Given the description of an element on the screen output the (x, y) to click on. 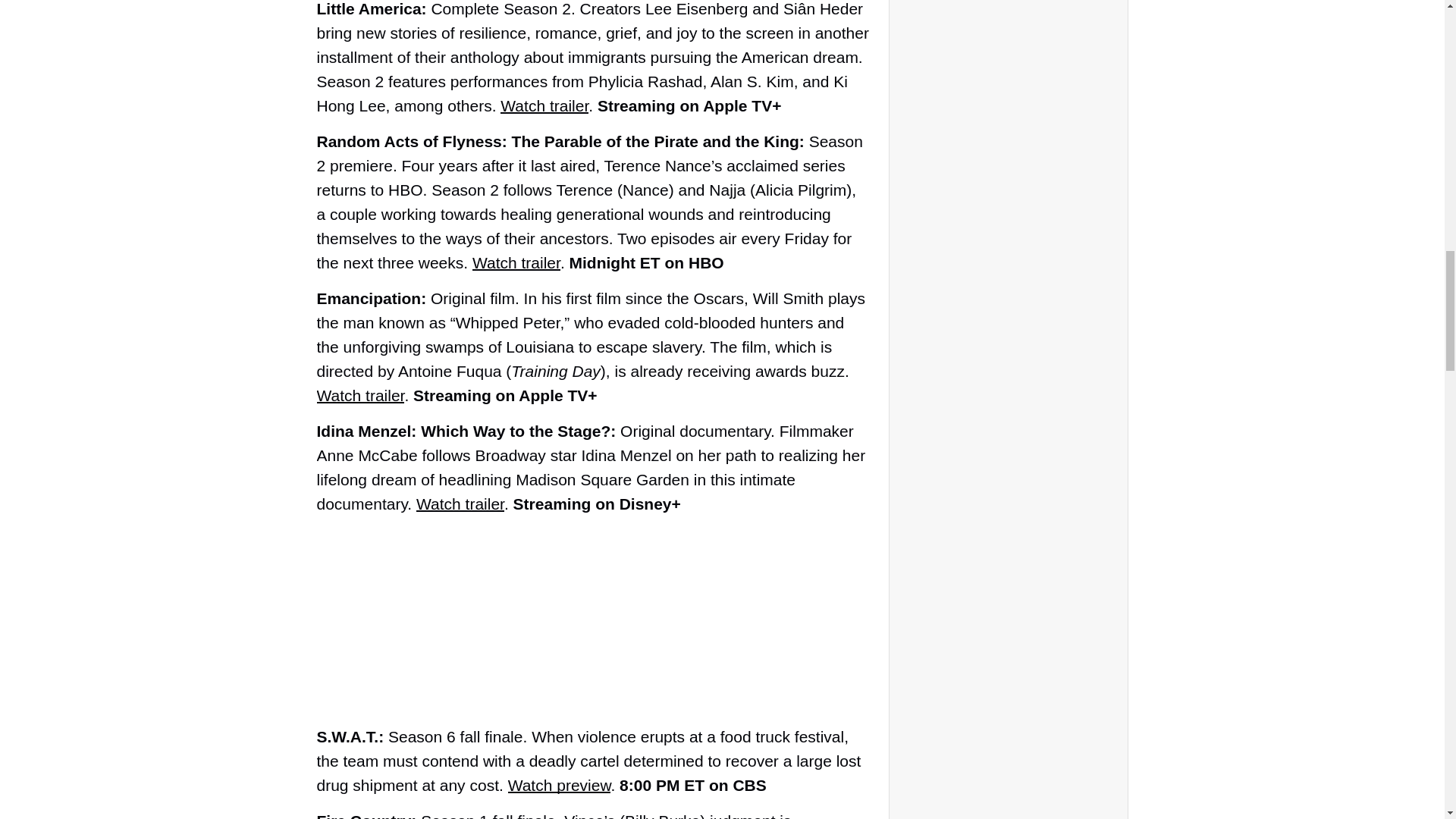
Watch trailer (515, 262)
Watch trailer (360, 395)
Watch trailer (544, 105)
Watch preview (559, 784)
Watch trailer (459, 503)
